Given the description of an element on the screen output the (x, y) to click on. 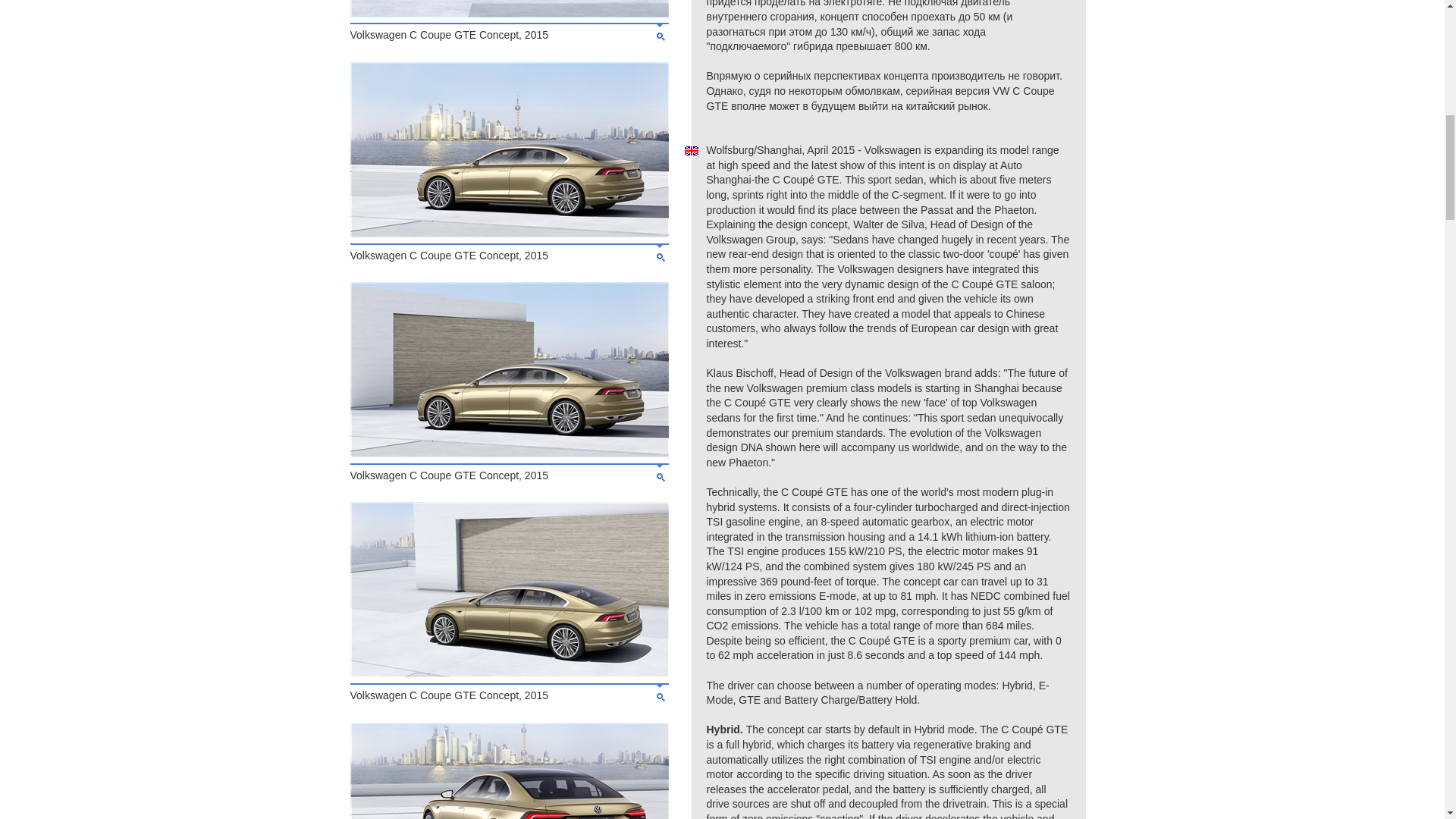
Volkswagen C Coupe GTE Concept, 2015 (509, 673)
Volkswagen C Coupe GTE Concept, 2015 (509, 233)
Volkswagen C Coupe GTE Concept, 2015 (509, 13)
Volkswagen C Coupe GTE Concept, 2015 (509, 453)
